Given the description of an element on the screen output the (x, y) to click on. 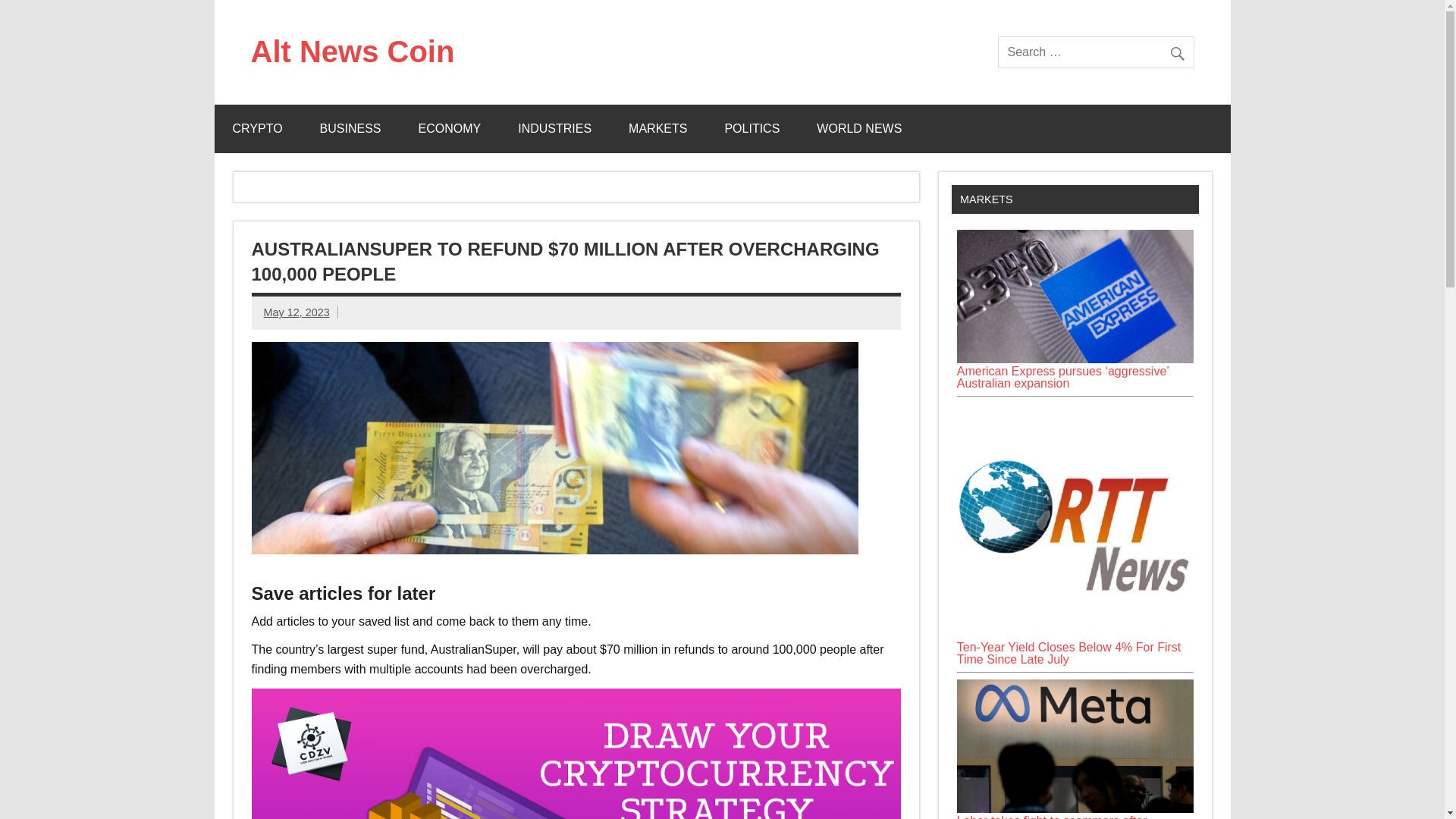
Alt News Coin (352, 51)
WORLD NEWS (858, 128)
5:30 am (296, 312)
CRYPTO (256, 128)
MARKETS (657, 128)
INDUSTRIES (554, 128)
ECONOMY (449, 128)
May 12, 2023 (296, 312)
POLITICS (751, 128)
BUSINESS (349, 128)
